Given the description of an element on the screen output the (x, y) to click on. 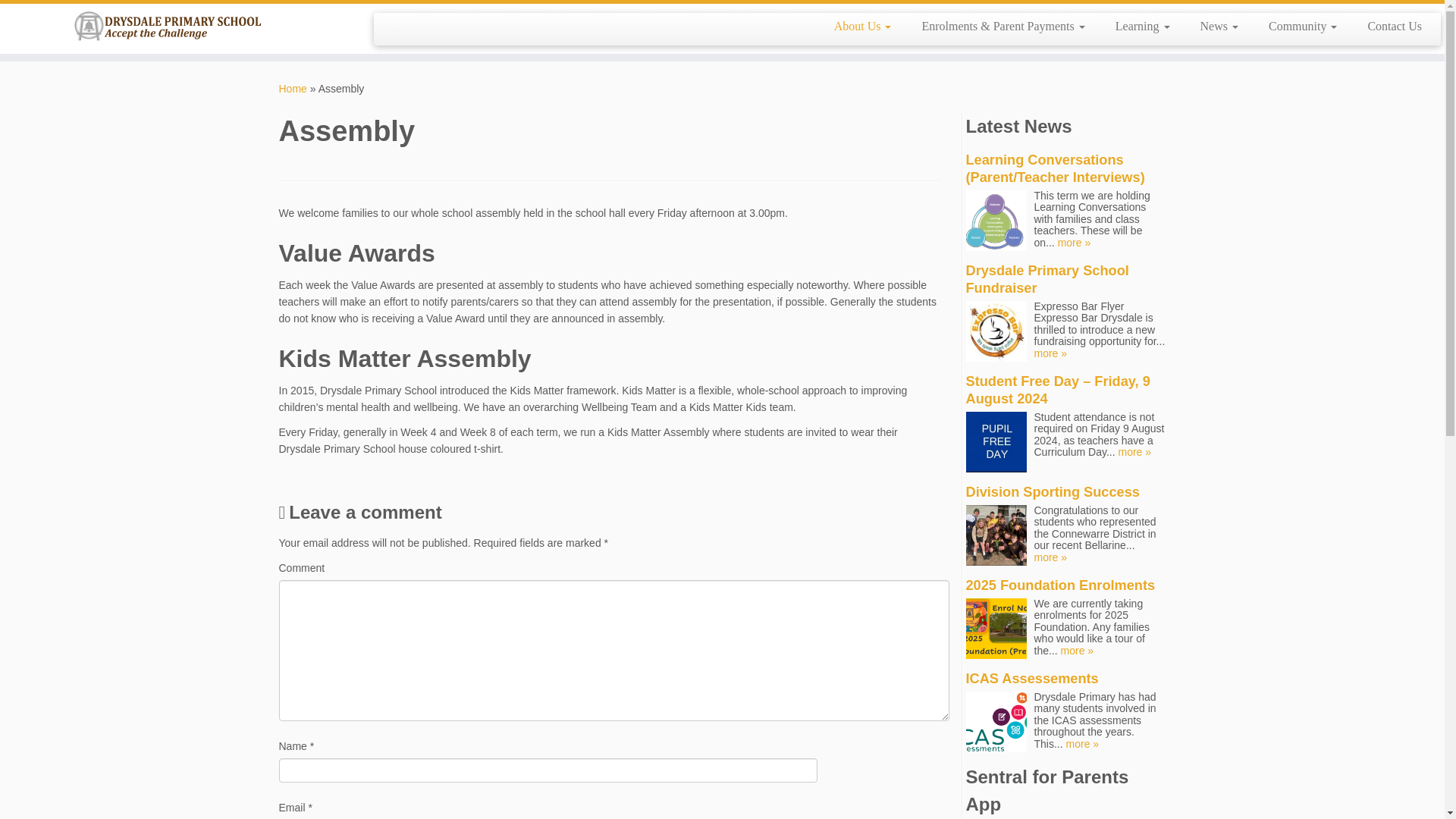
About Us (862, 26)
Contact Us (1387, 26)
Division Sporting Success (1053, 491)
News (1219, 26)
ICAS Assessements (1032, 678)
Home (293, 88)
2025 Foundation Enrolments (1061, 585)
Drysdale Primary School (293, 88)
Learning (1142, 26)
Drysdale Primary School Fundraiser (1047, 278)
Community (1302, 26)
